Given the description of an element on the screen output the (x, y) to click on. 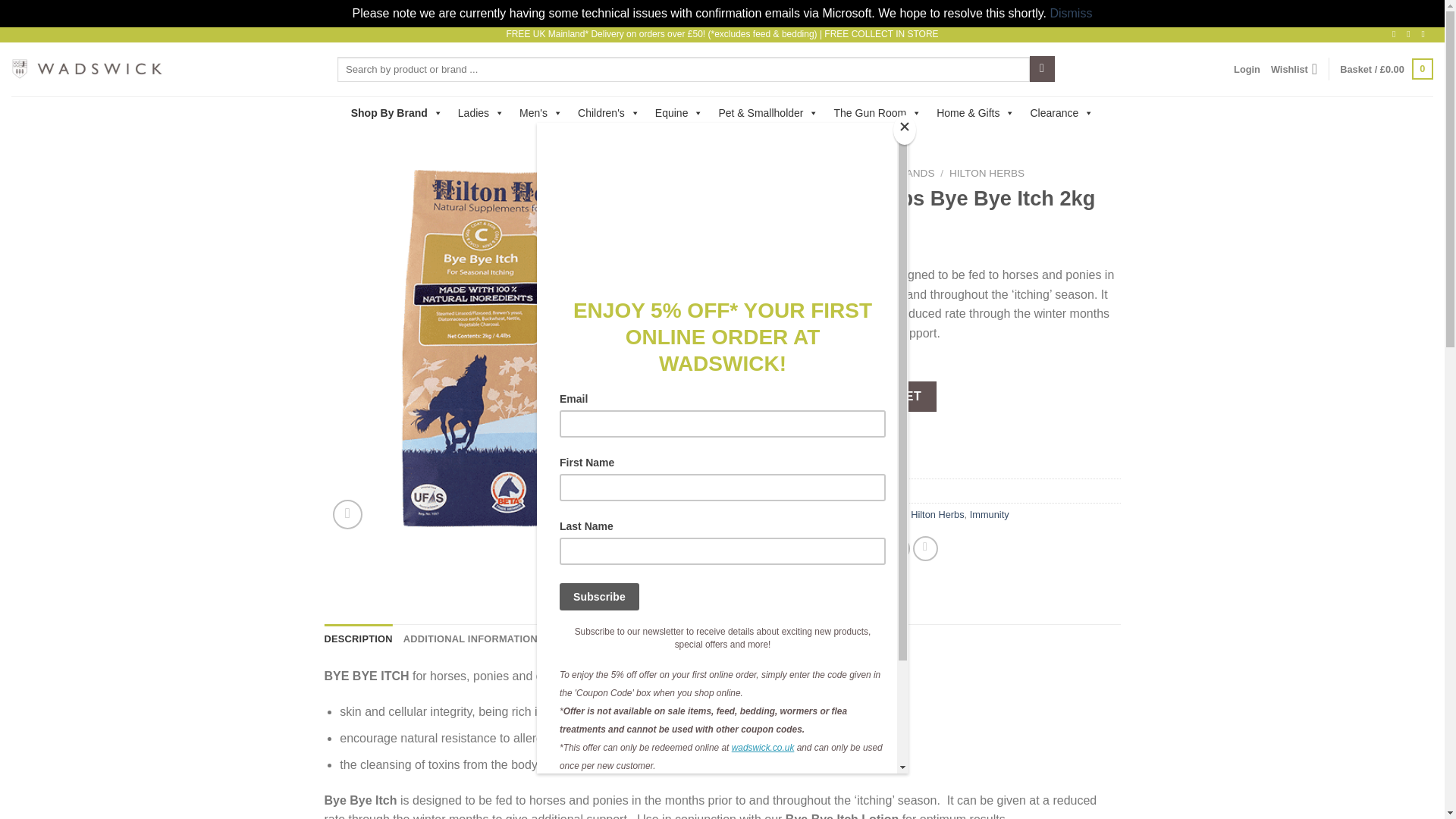
Wadswick Country Store Ltd - Your Country Store (87, 68)
Basket (1385, 68)
Login (1246, 69)
Shop By Brand (396, 112)
PayPal Message 1 (960, 446)
Zoom (347, 514)
Share on Facebook (815, 548)
Email to a Friend (869, 548)
Wishlist (1294, 68)
Share on Twitter (842, 548)
Dismiss (1070, 12)
Search (1041, 68)
